Given the description of an element on the screen output the (x, y) to click on. 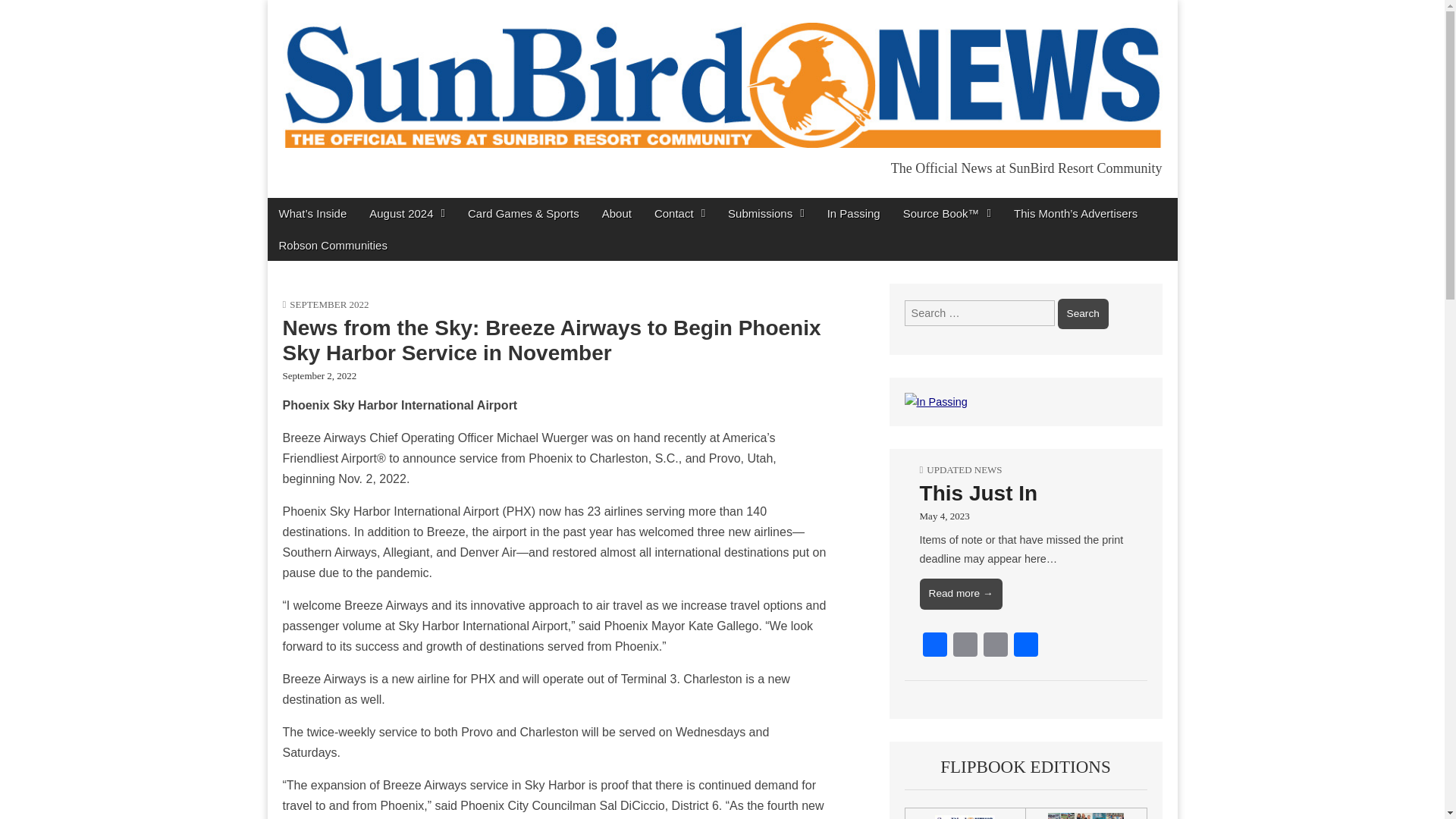
SunBird News (388, 201)
Search (1083, 313)
Search (1083, 313)
In Passing (853, 213)
Robson Communities (331, 245)
UPDATED NEWS (963, 469)
Email (964, 646)
Facebook (935, 646)
This Just In (979, 493)
